Given the description of an element on the screen output the (x, y) to click on. 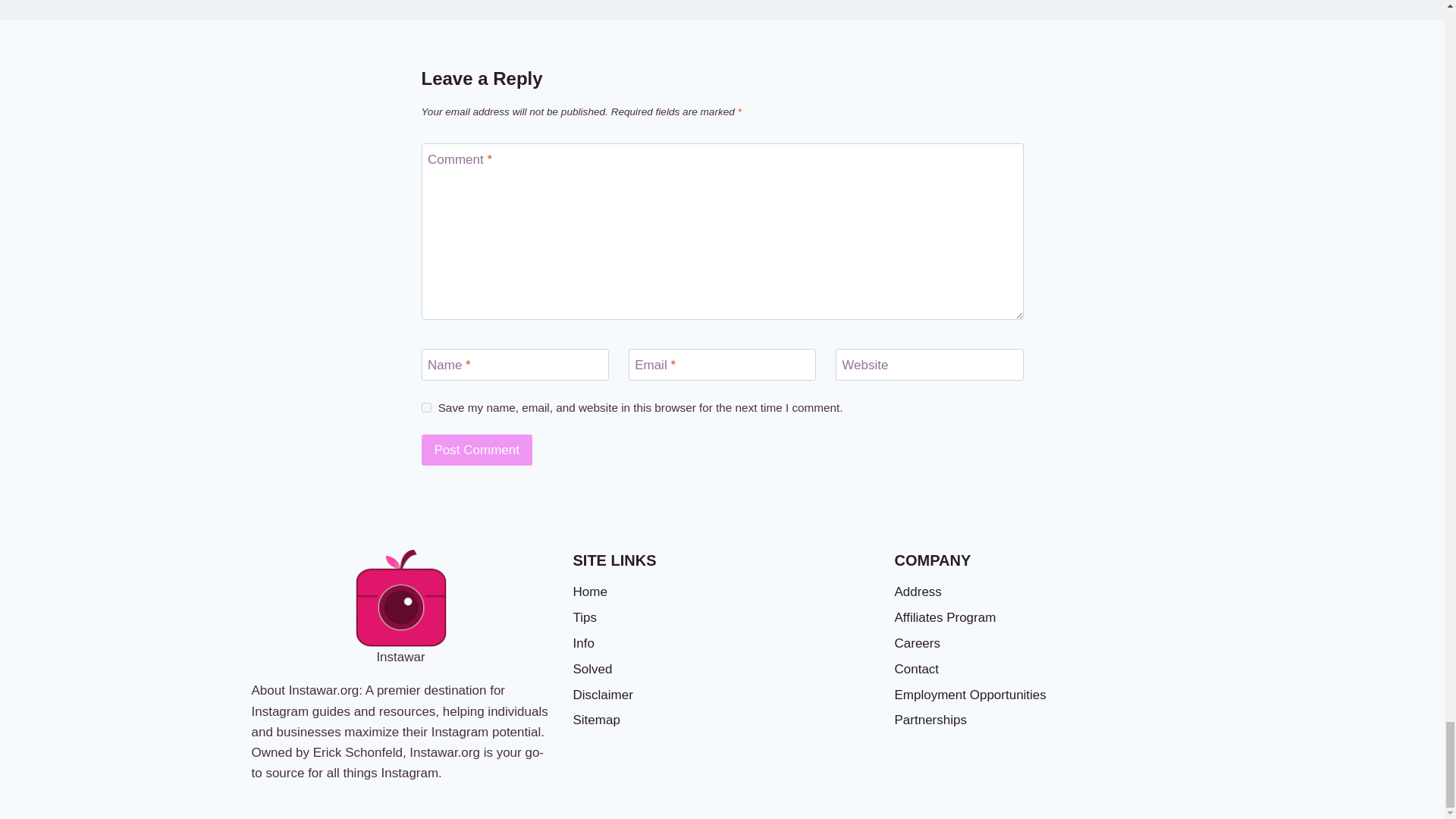
yes (426, 407)
Post Comment (477, 450)
